Given the description of an element on the screen output the (x, y) to click on. 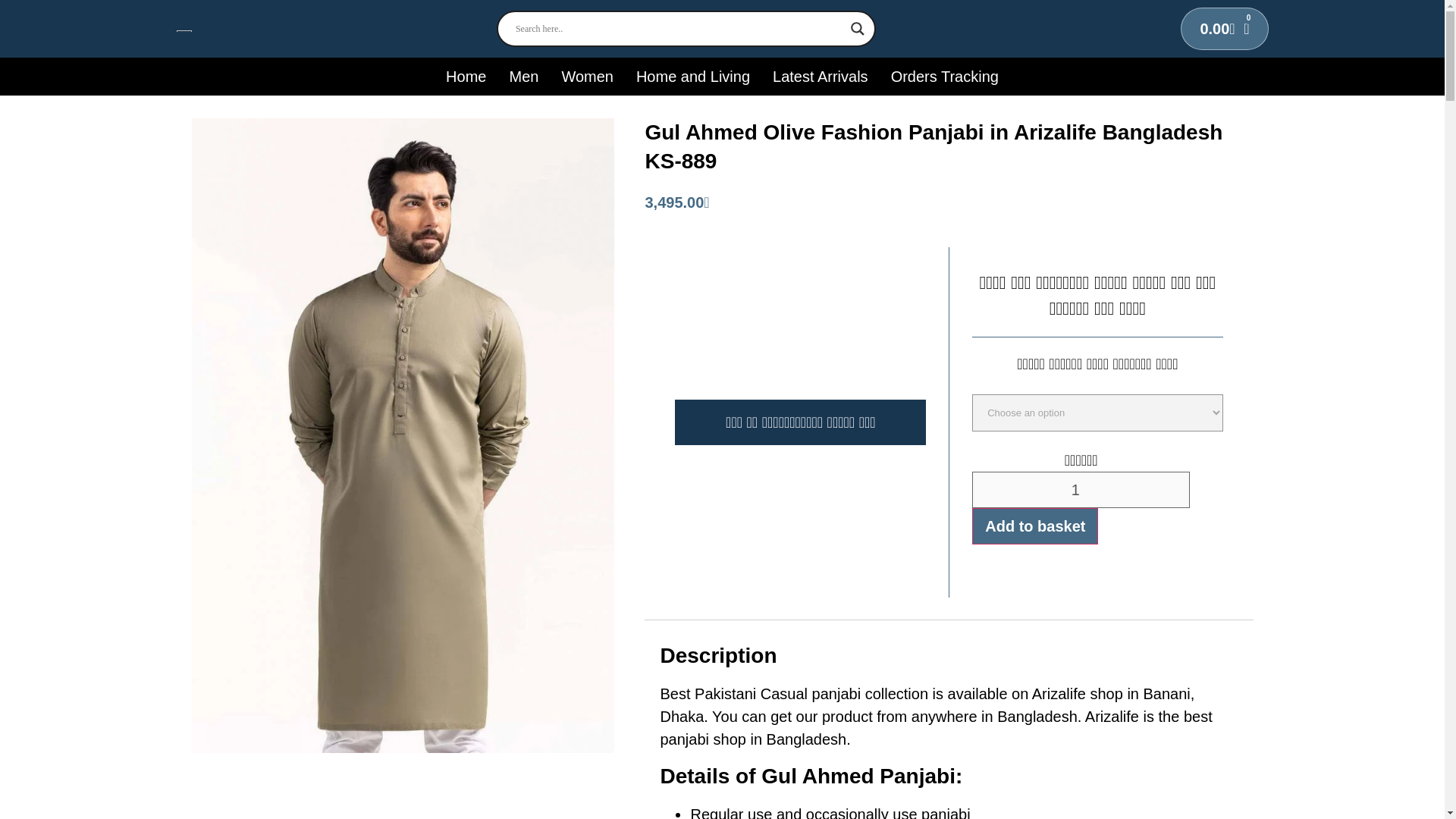
1 (1080, 489)
Home (465, 76)
Men (523, 76)
